Given the description of an element on the screen output the (x, y) to click on. 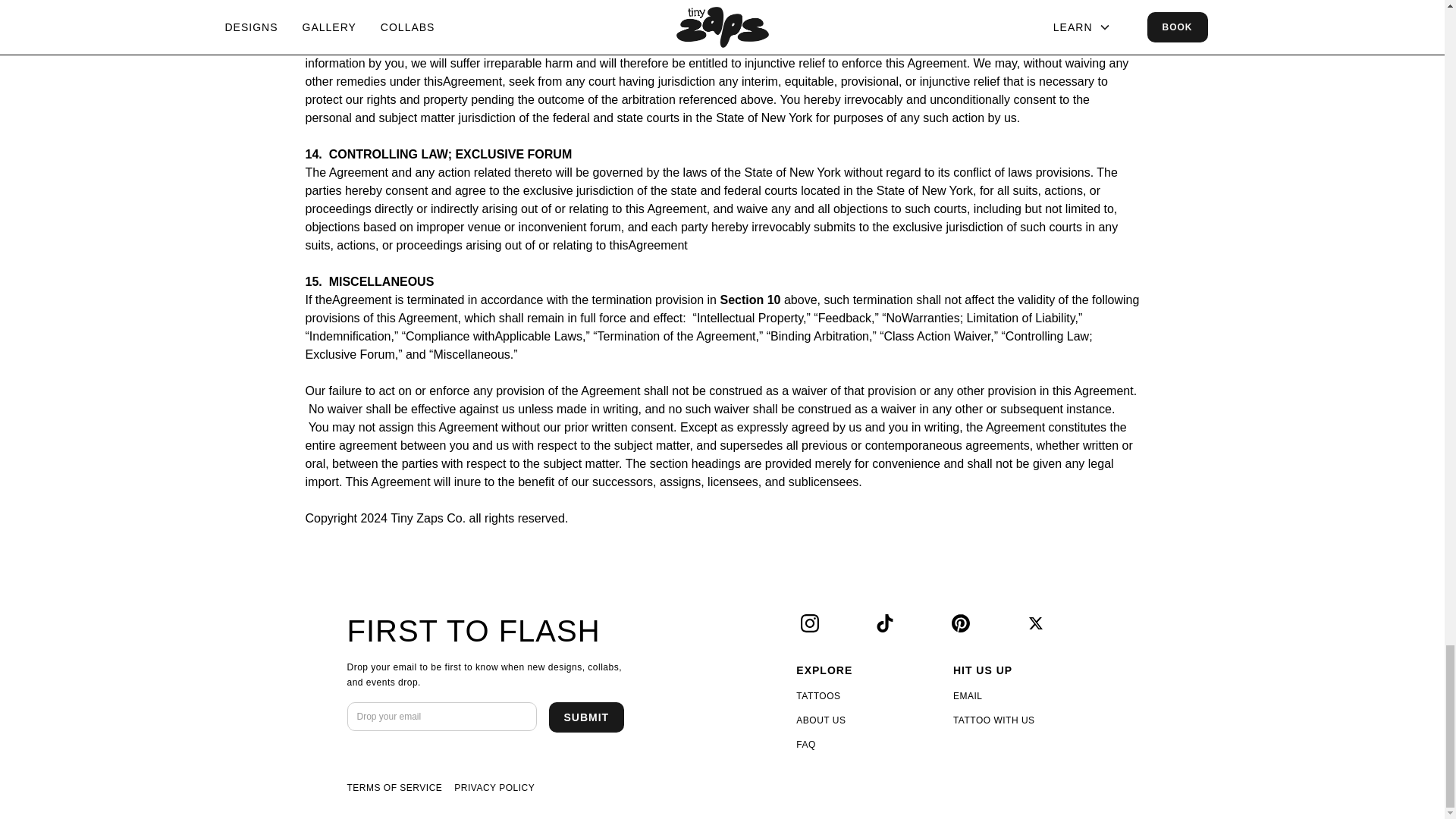
EMAIL (967, 695)
Submit (586, 716)
TERMS OF SERVICE (394, 787)
TATTOO WITH US (994, 720)
Submit (586, 716)
PRIVACY POLICY (494, 787)
ABOUT US (820, 720)
TATTOOS (818, 695)
